Given the description of an element on the screen output the (x, y) to click on. 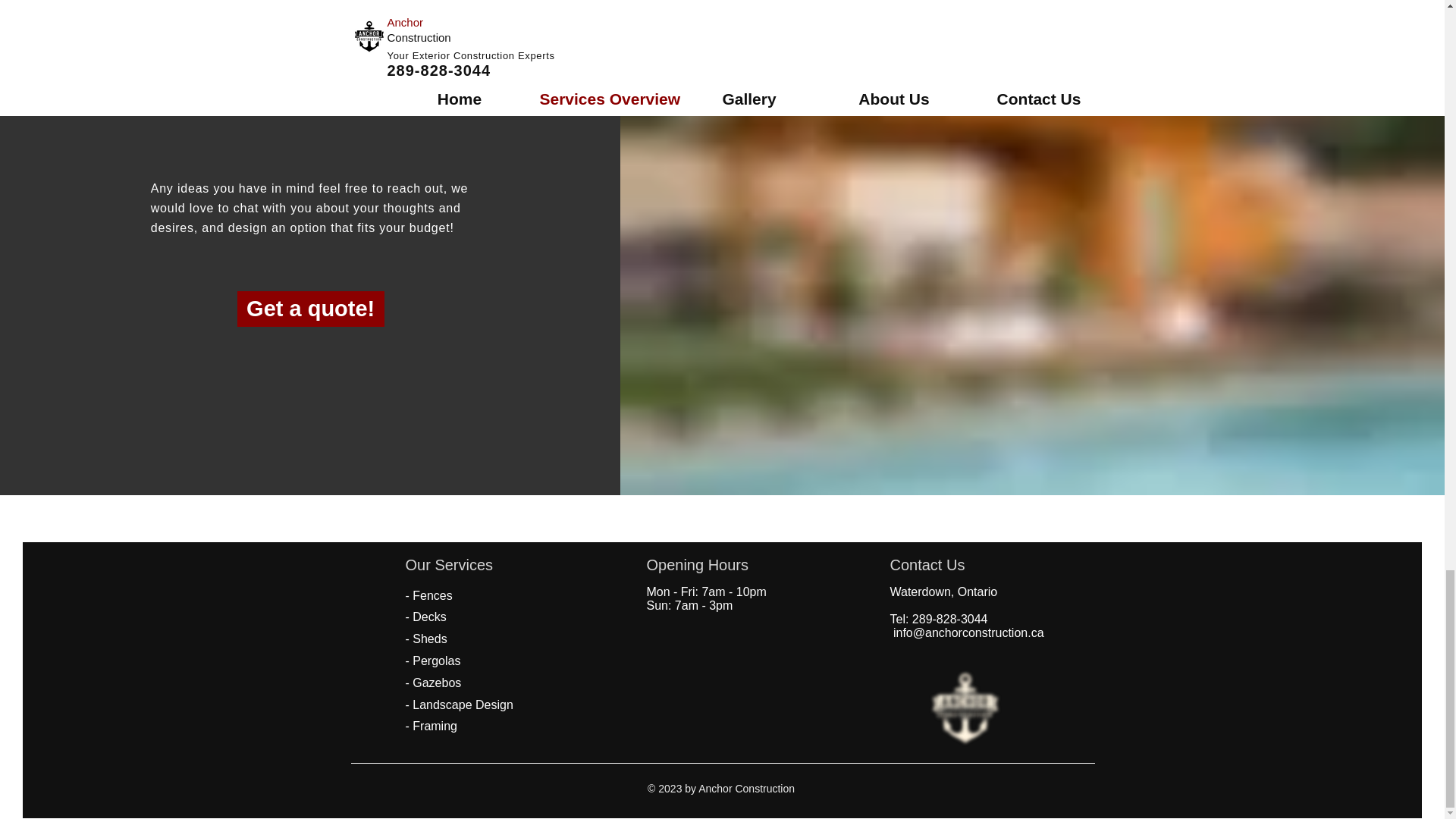
Get a quote! (310, 308)
